Given the description of an element on the screen output the (x, y) to click on. 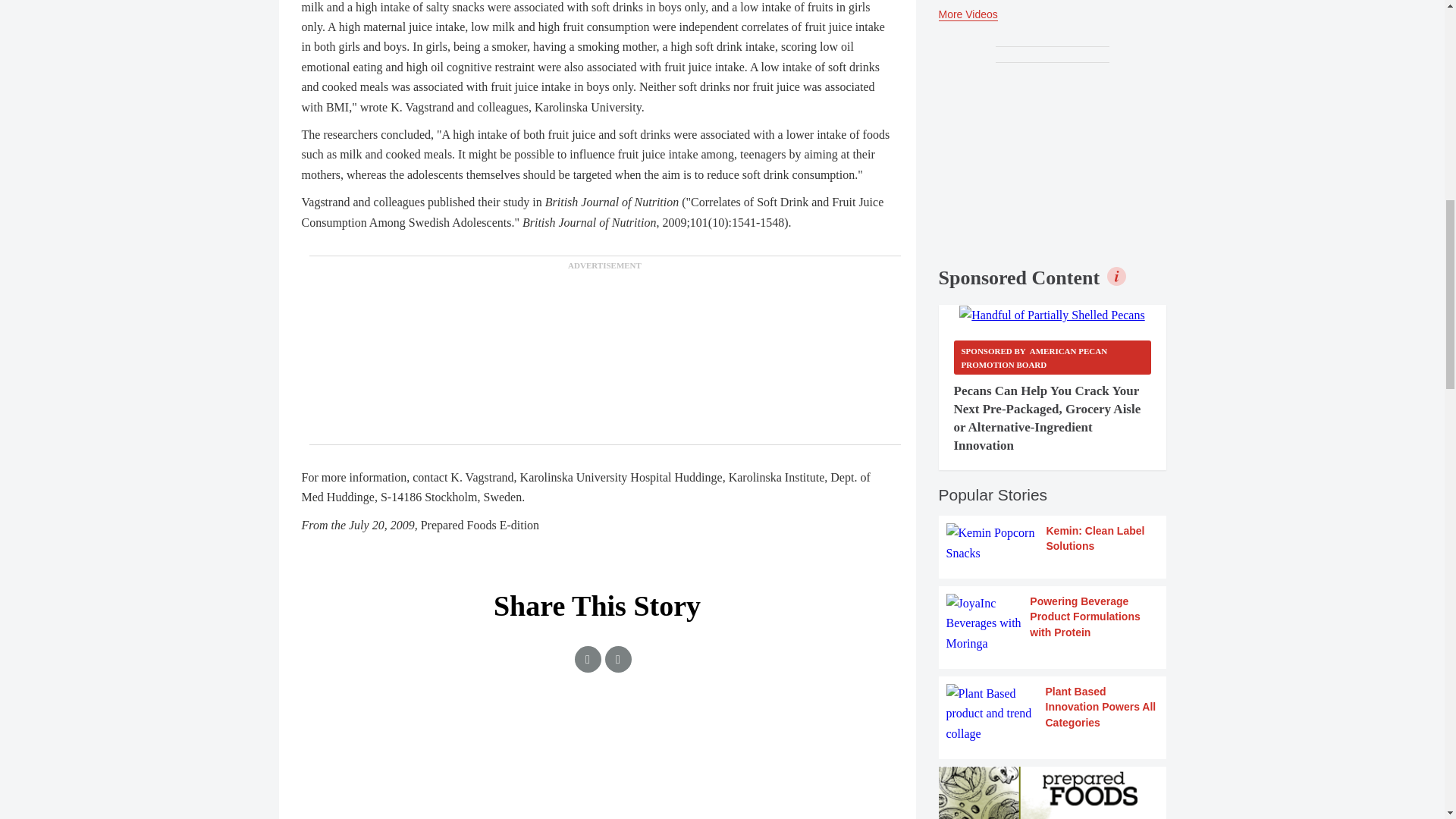
Kemin: Clean Label Solutions (1052, 543)
Plant Based Innovation Powers All Categories (1052, 713)
Handful of Partially Shelled Pecans (1051, 315)
Sponsored by American Pecan Promotion Board (1052, 357)
Powering Beverage Product Formulations with Protein (1052, 623)
